Given the description of an element on the screen output the (x, y) to click on. 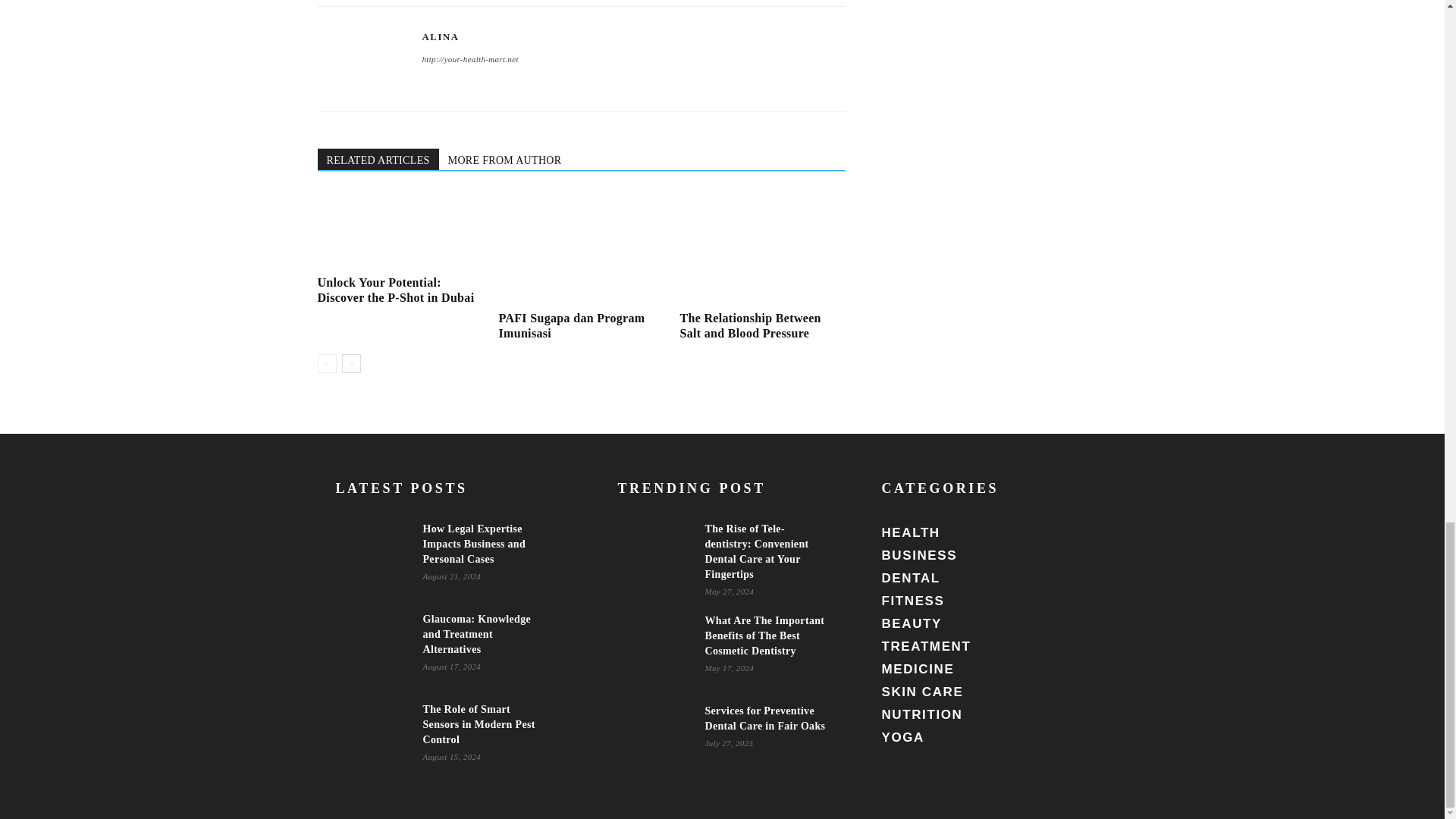
MORE FROM AUTHOR (504, 158)
Unlock Your Potential: Discover the P-Shot in Dubai (399, 230)
ALINA (440, 36)
The Relationship Between Salt and Blood Pressure (761, 248)
RELATED ARTICLES (377, 158)
The Relationship Between Salt and Blood Pressure (750, 325)
Unlock Your Potential: Discover the P-Shot in Dubai (395, 289)
PAFI Sugapa dan Program Imunisasi (571, 325)
Unlock Your Potential: Discover the P-Shot in Dubai (395, 289)
PAFI Sugapa dan Program Imunisasi (580, 248)
